Given the description of an element on the screen output the (x, y) to click on. 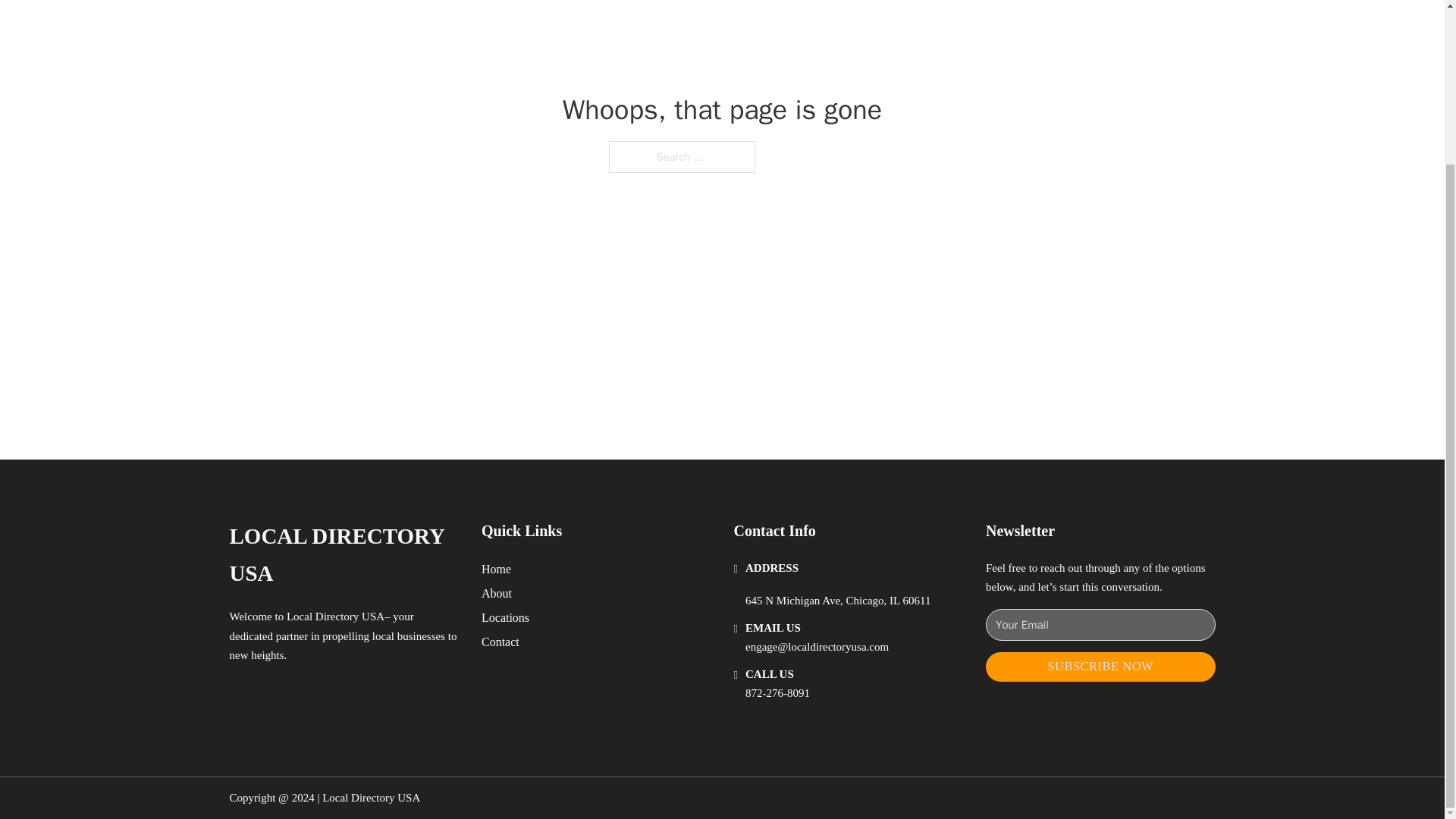
872-276-8091 (777, 693)
Contact (500, 641)
LOCAL DIRECTORY USA (343, 554)
Locations (505, 617)
Home (496, 568)
About (496, 593)
SUBSCRIBE NOW (1100, 666)
